Given the description of an element on the screen output the (x, y) to click on. 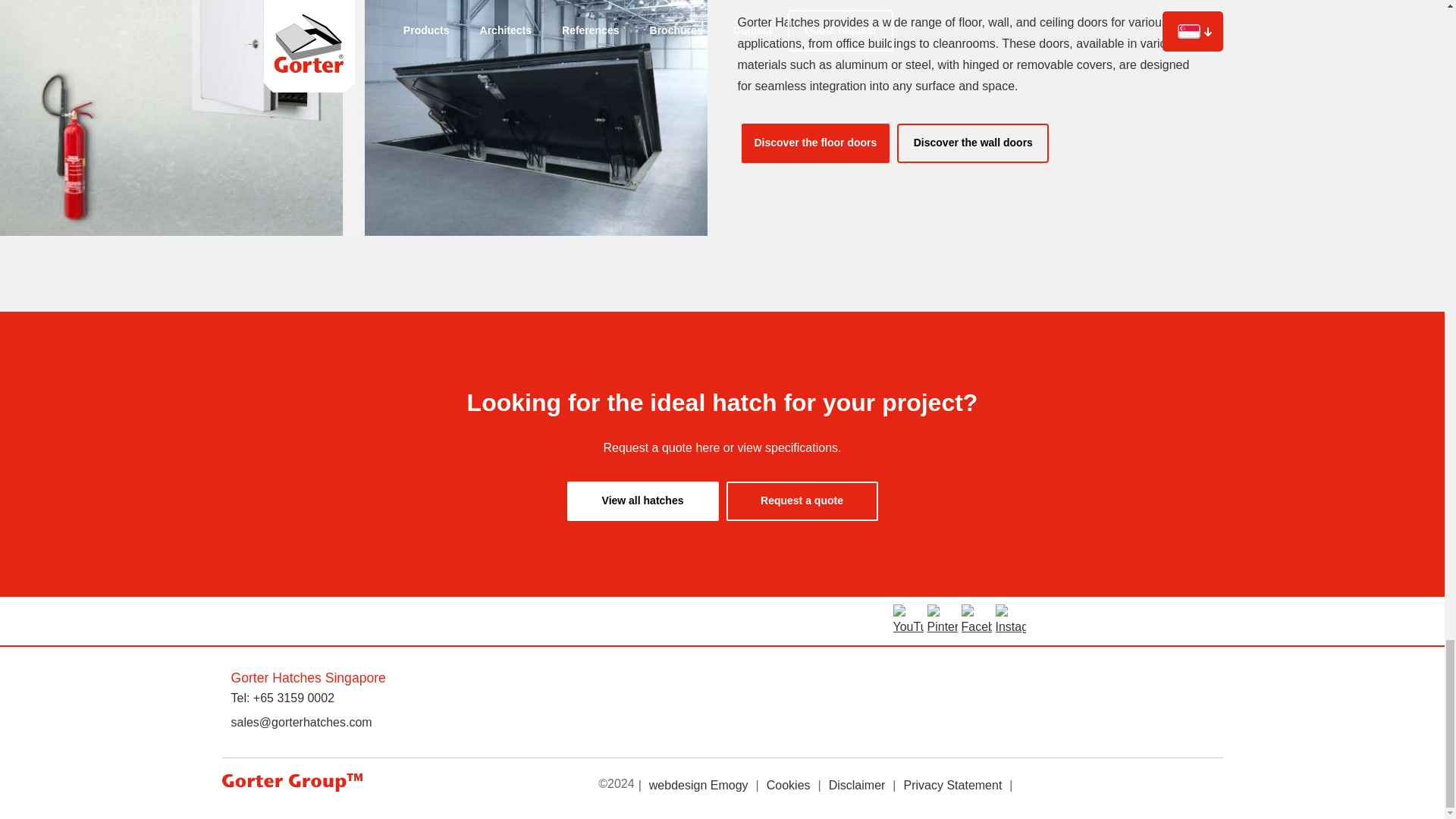
YouTube (908, 621)
Instagram (1009, 621)
Discover the floor doors (815, 142)
Facebook (975, 621)
View all hatches (643, 500)
Request a quote (801, 500)
Discover the wall doors (972, 142)
Pinterest (941, 621)
